Given the description of an element on the screen output the (x, y) to click on. 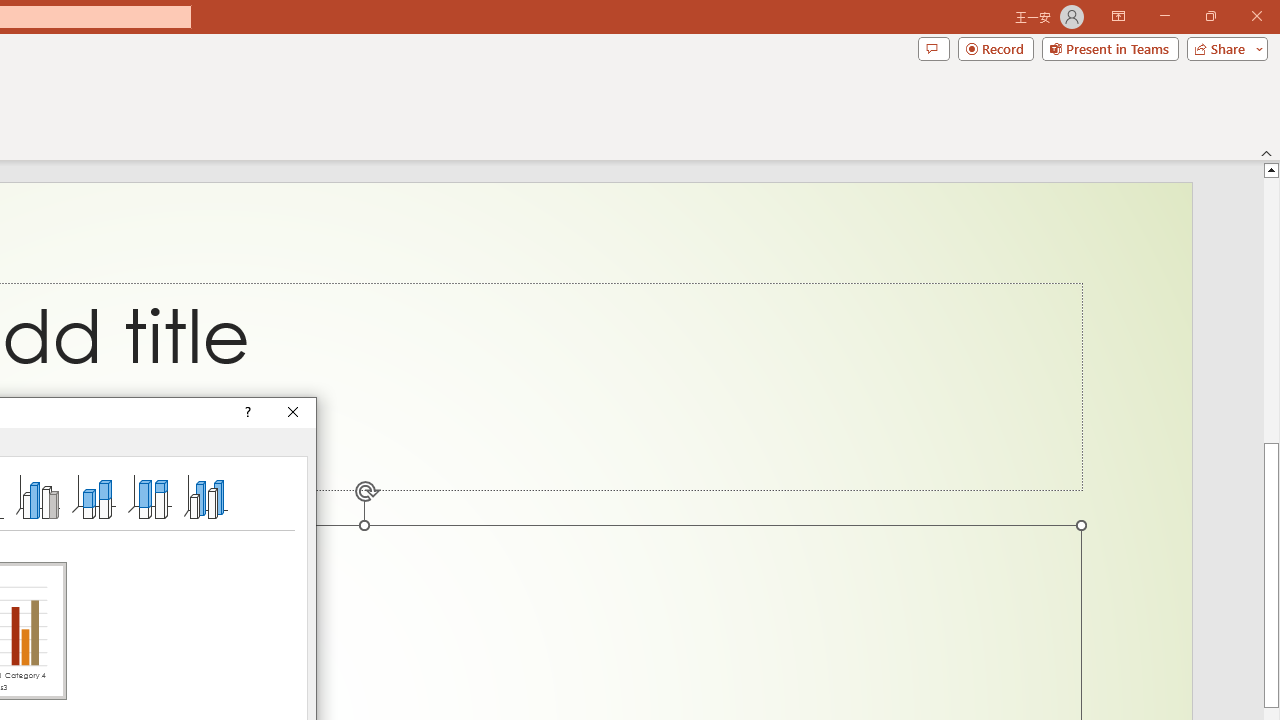
3-D 100% Stacked Column (149, 496)
3-D Stacked Column (93, 496)
3-D Clustered Column (38, 496)
3-D Column (205, 496)
Context help (246, 412)
